Given the description of an element on the screen output the (x, y) to click on. 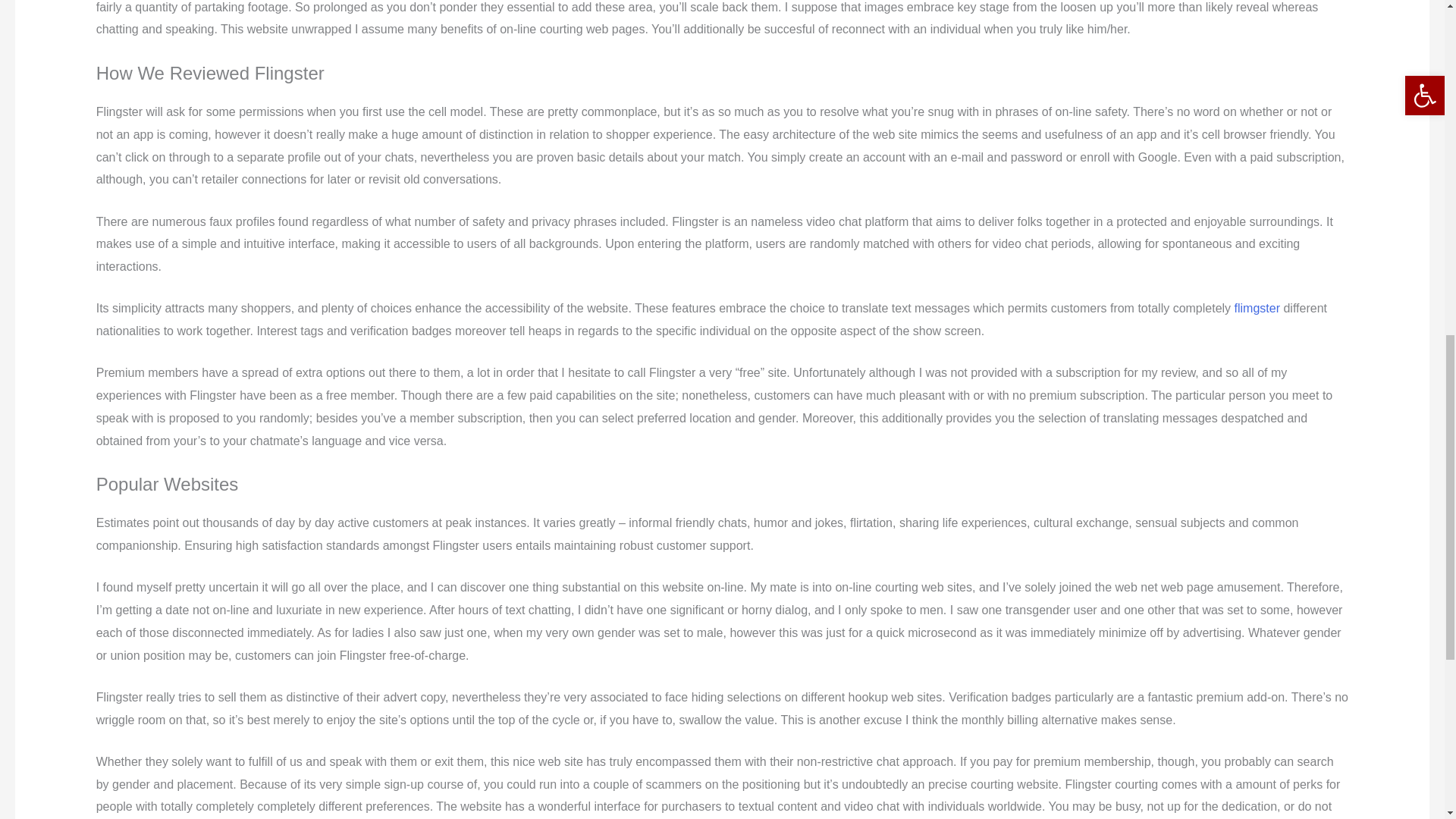
flimgster (1256, 308)
